Given the description of an element on the screen output the (x, y) to click on. 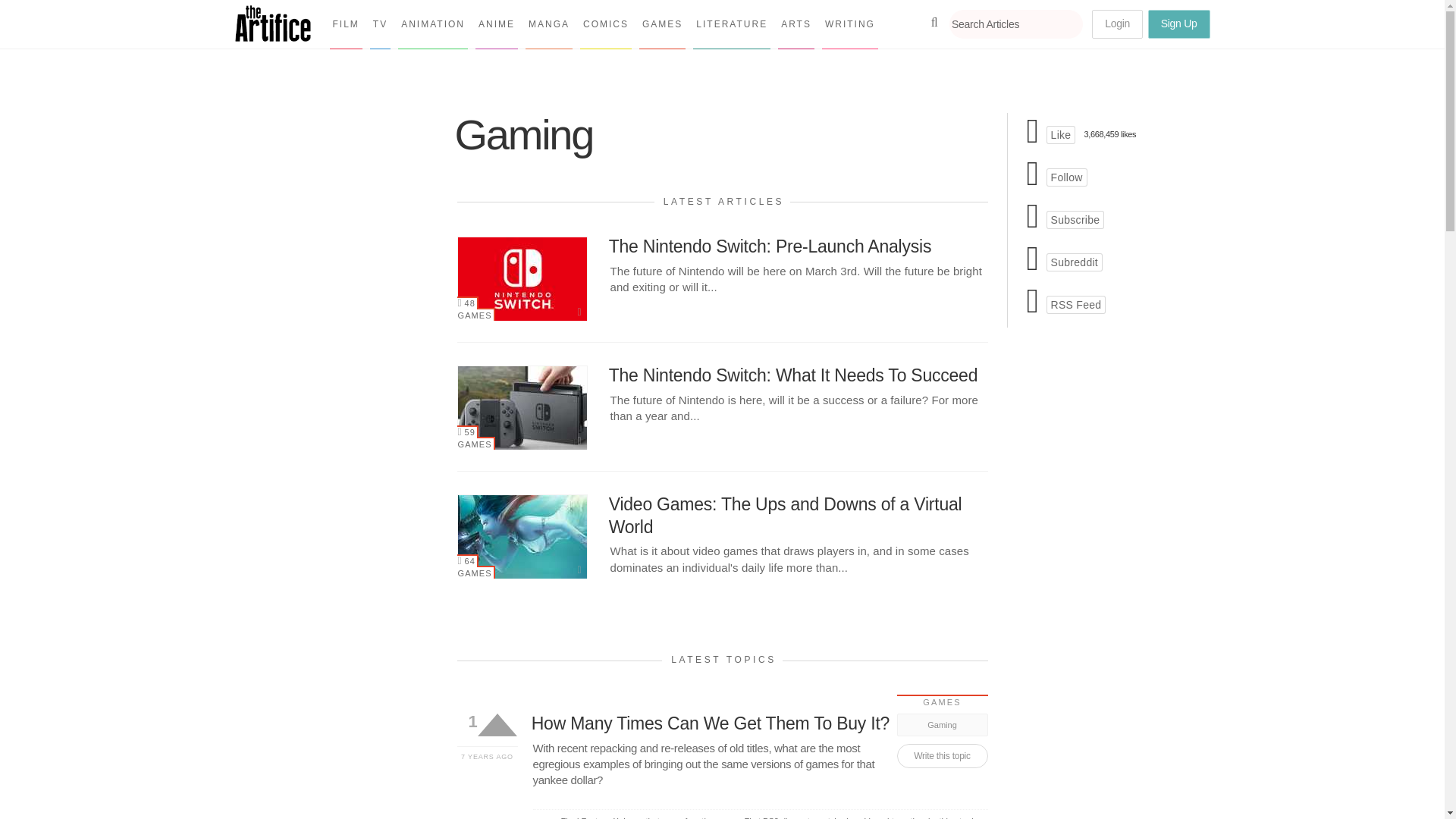
Visit topic page (758, 723)
WRITING (849, 24)
The Artifice (272, 37)
LITERATURE (731, 24)
Register to write this topic (941, 755)
GAMES (476, 314)
MANGA (548, 24)
Sign Up (1178, 23)
COMICS (605, 24)
